Given the description of an element on the screen output the (x, y) to click on. 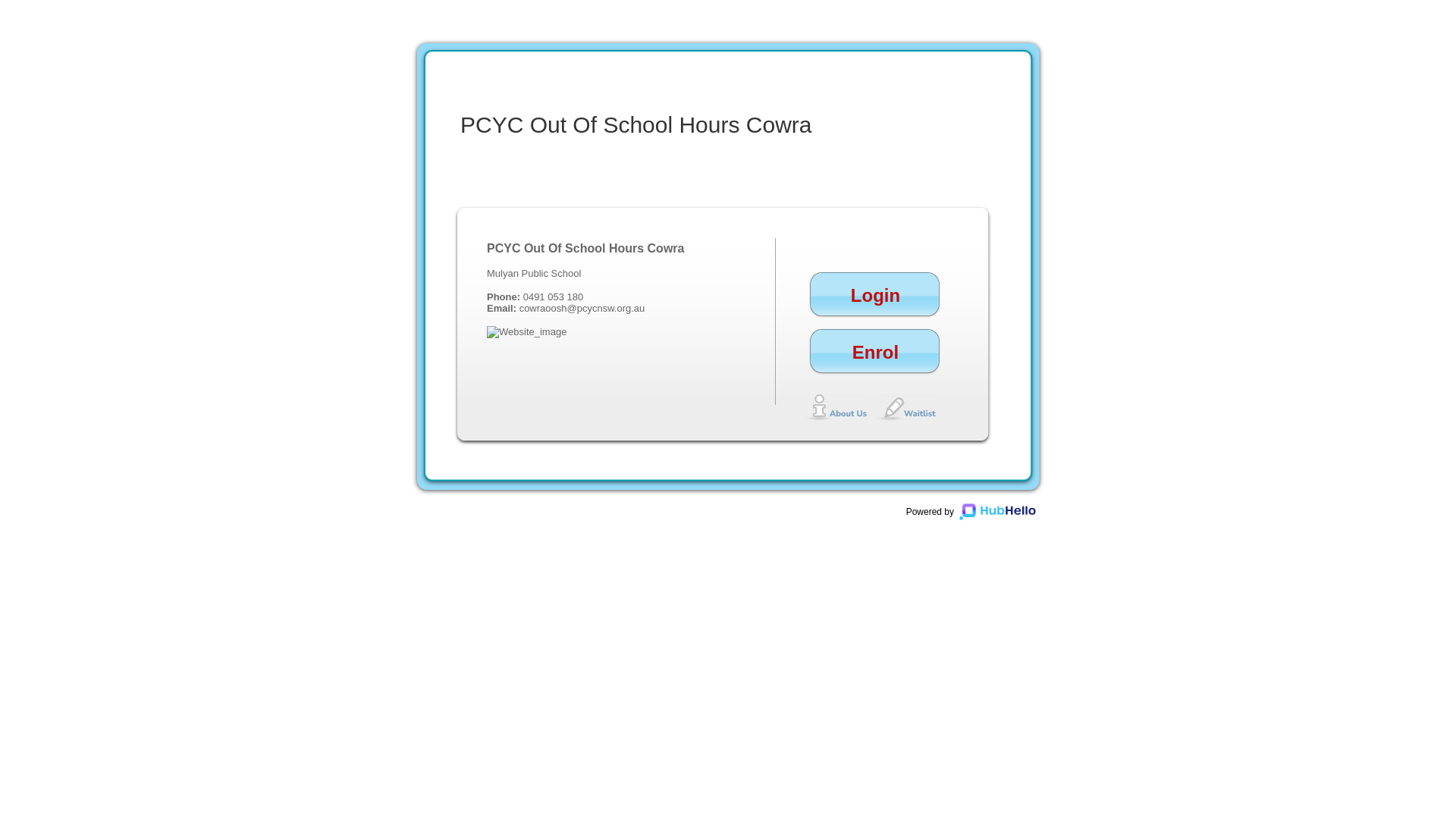
Login Element type: text (875, 304)
Back Element type: text (1104, 458)
Submit Element type: text (1100, 540)
Submit Element type: text (1100, 336)
Back Element type: text (1068, 540)
Enrol Element type: text (875, 361)
Login Element type: text (1083, 344)
Back Element type: text (1104, 379)
